Given the description of an element on the screen output the (x, y) to click on. 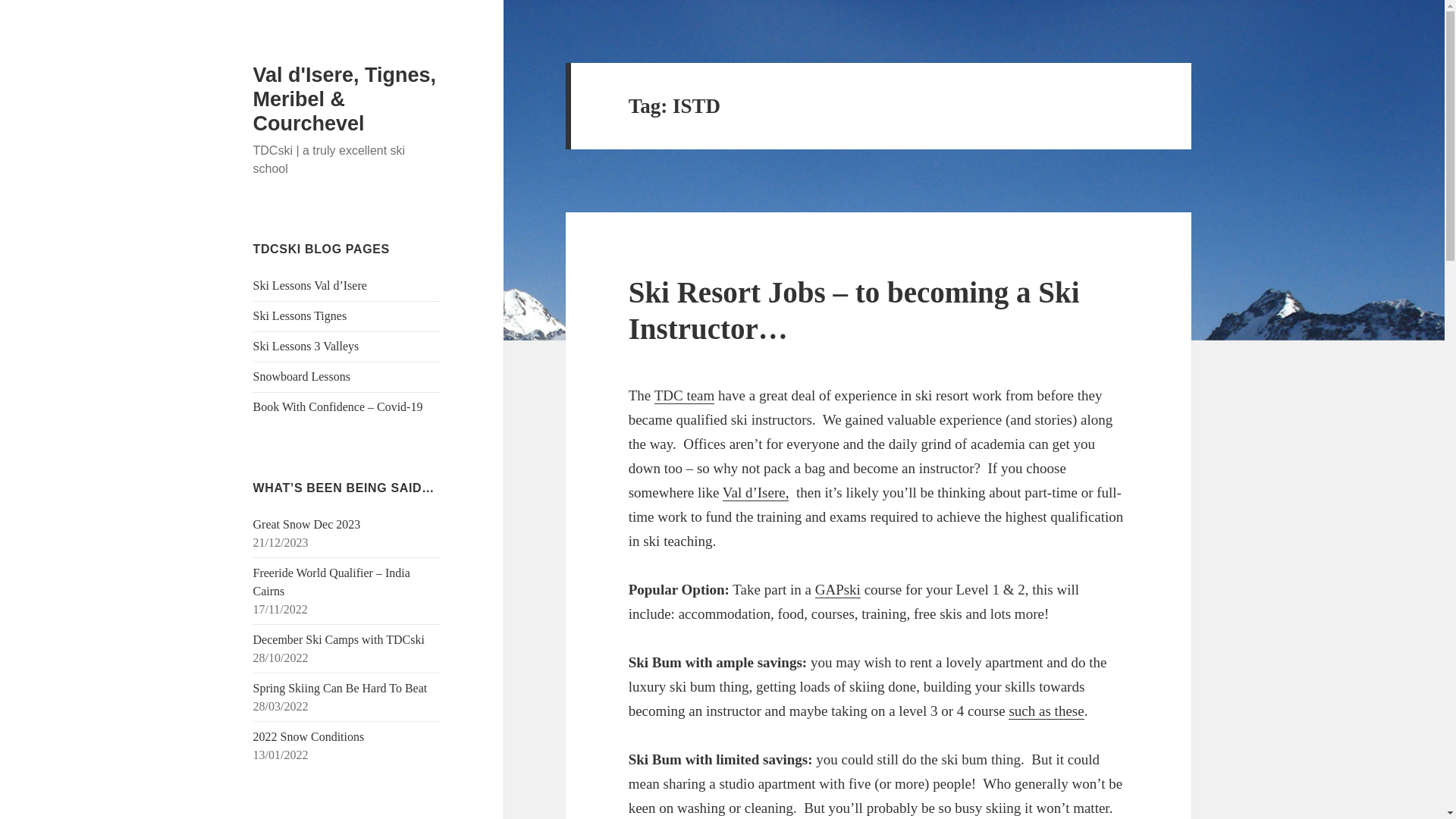
Ski Instructor Training Course (1046, 710)
TDC team (683, 395)
GAPski Instructor Training (837, 589)
Snowboard Lessons (301, 376)
2022 Snow Conditions (309, 736)
December Ski Camps with TDCski (339, 639)
Ski Lessons Tignes (300, 315)
Ski Lessons 3 Valleys (306, 345)
such as these (1046, 710)
Spring Skiing Can Be Hard To Beat (340, 687)
Great Snow Dec 2023 (307, 523)
Val d'Isere ski instructors (683, 395)
GAPski (837, 589)
Val d'Isere tripadvisor (755, 492)
